Given the description of an element on the screen output the (x, y) to click on. 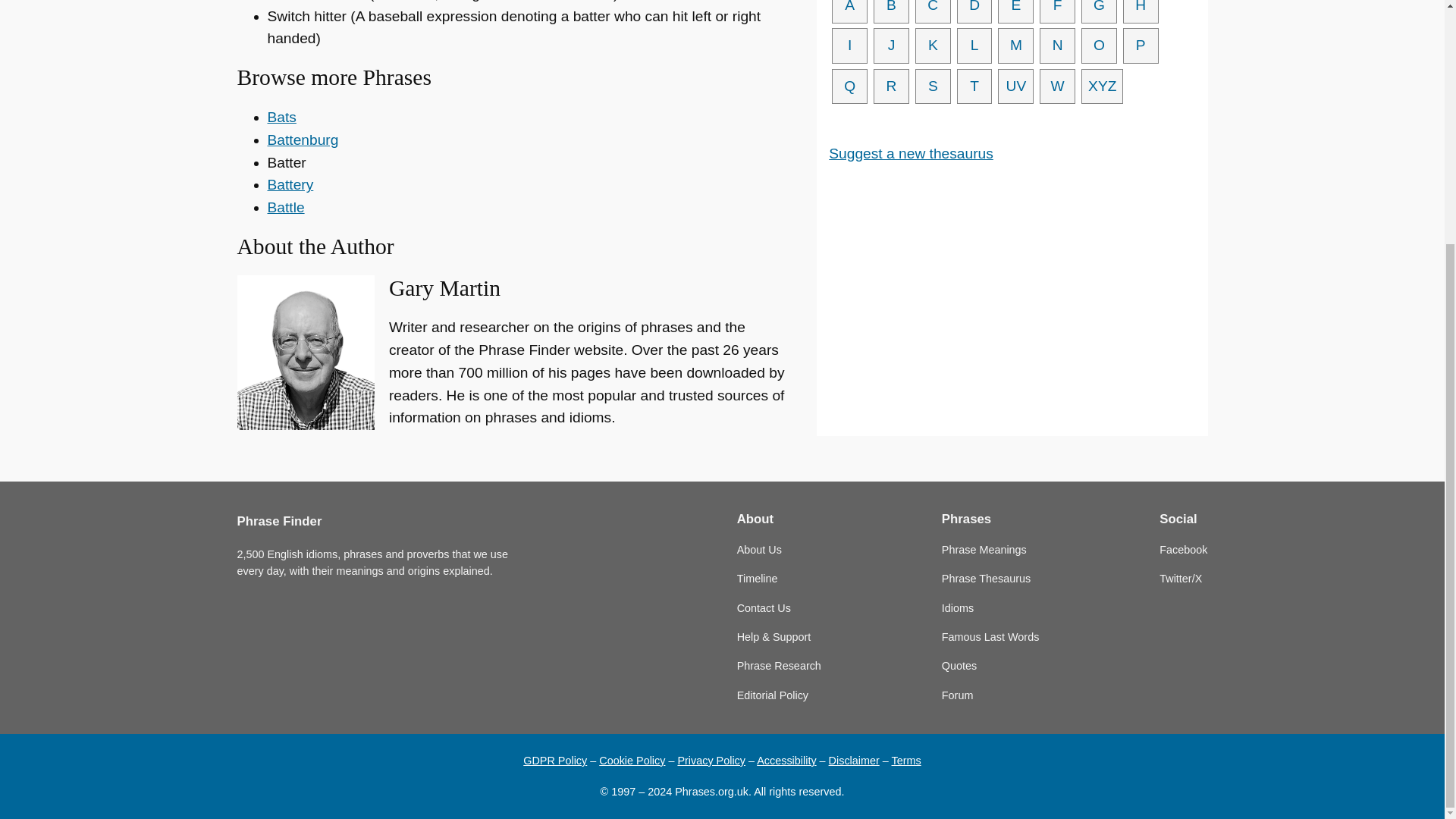
XYZ (1101, 86)
Bats (280, 116)
Suggest a new thesaurus (910, 153)
M (1015, 45)
B (890, 11)
T (974, 86)
A (849, 11)
I (849, 45)
Battery (289, 184)
Battle (285, 207)
